Given the description of an element on the screen output the (x, y) to click on. 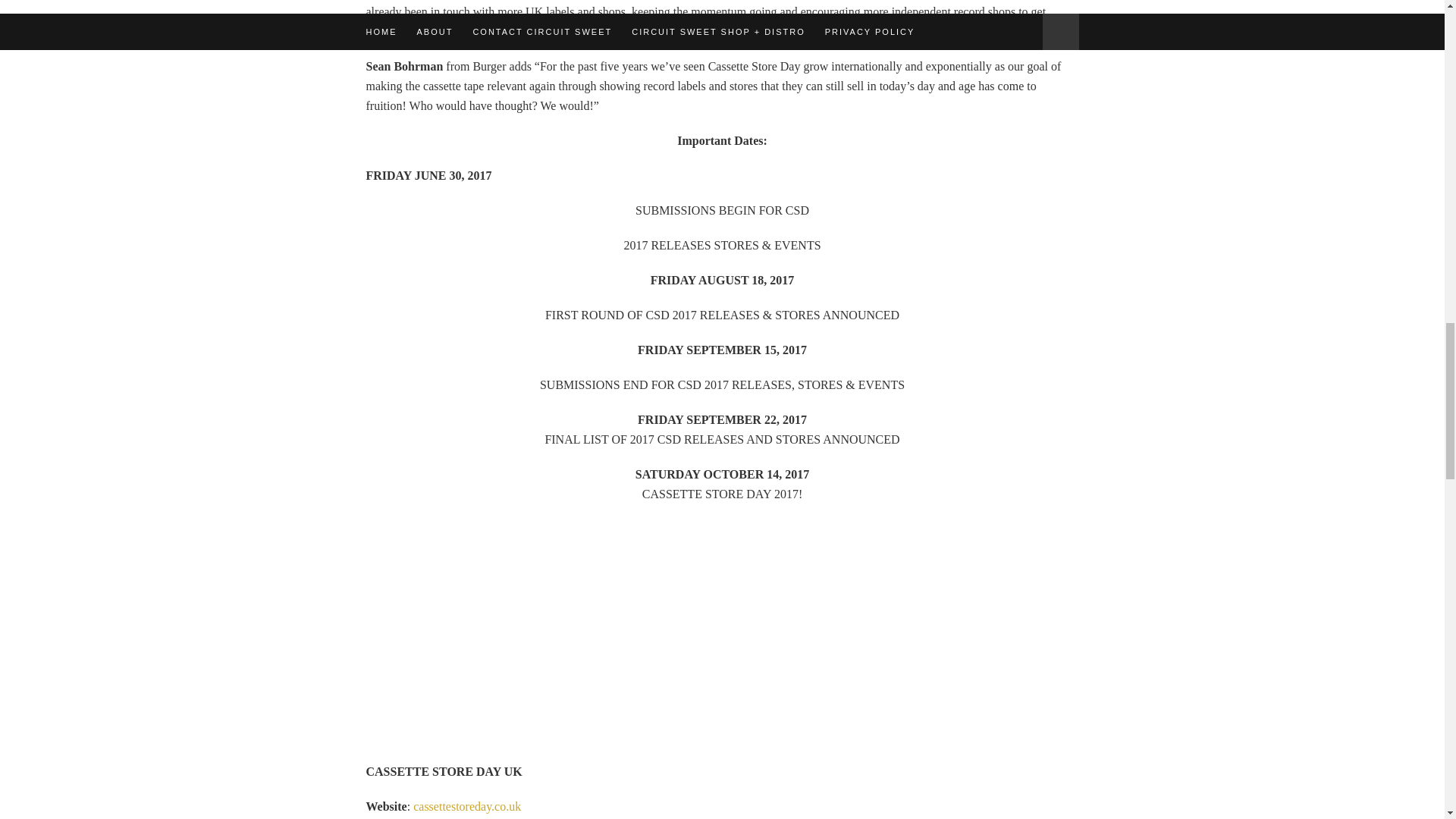
cassettestoreday.co.uk (467, 806)
